Given the description of an element on the screen output the (x, y) to click on. 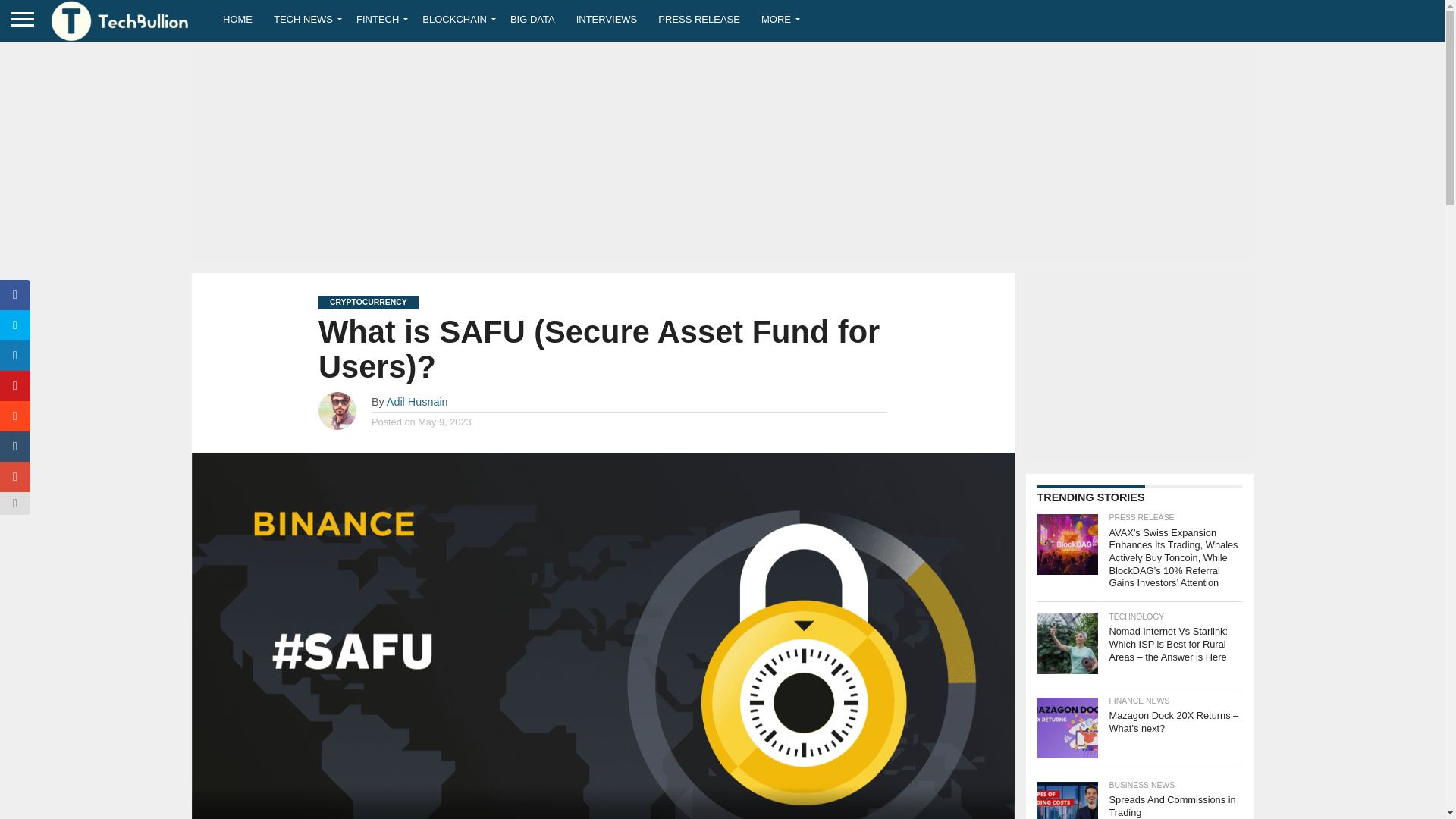
Posts by Adil Husnain (417, 401)
Advertisement (1138, 367)
